Given the description of an element on the screen output the (x, y) to click on. 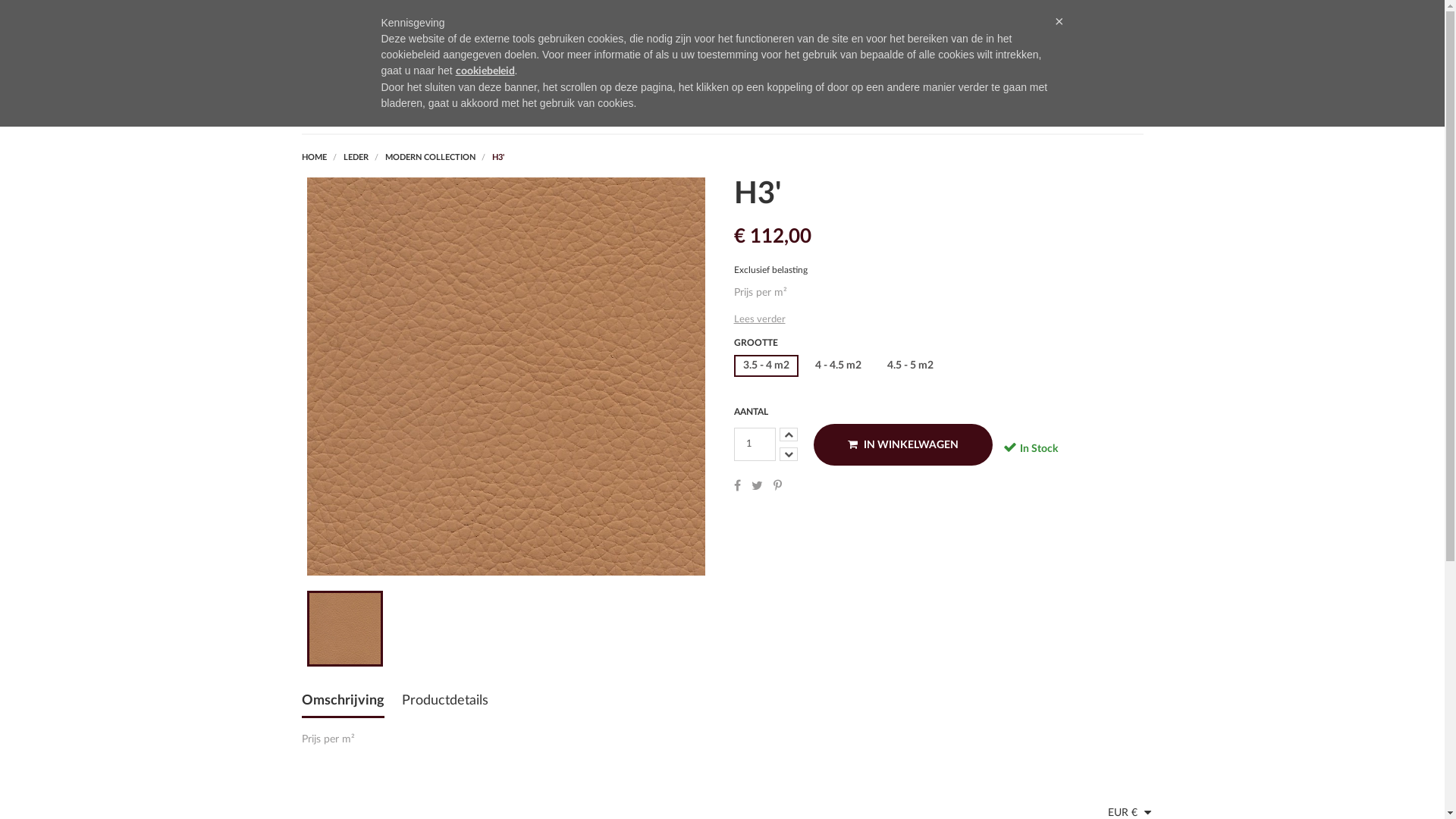
HOME Element type: text (315, 157)
Vernieuwen Element type: text (64, 15)
H3' Element type: text (497, 157)
OVER ONS Element type: text (399, 113)
H3 - Carleather Element type: hover (506, 376)
MODERN COLLECTION Element type: text (431, 157)
Pinterest Element type: text (777, 485)
LEDER Element type: text (478, 113)
LEDER Element type: text (356, 157)
Contacteer ons Element type: text (1107, 23)
KUNSTLEDER Element type: text (562, 113)
ALCANTARA Element type: text (661, 113)
Lees verder Element type: text (759, 319)
Delen Element type: text (737, 485)
IN WINKELWAGEN Element type: text (901, 444)
Tweet Element type: text (756, 485)
Aanloggen bij Uw klantenrekening Element type: hover (1107, 56)
Productdetails Element type: text (444, 704)
HOME Element type: text (322, 113)
H3 - Carleather Element type: hover (344, 628)
Omschrijving Element type: text (342, 705)
cookiebeleid Element type: text (484, 70)
